Given the description of an element on the screen output the (x, y) to click on. 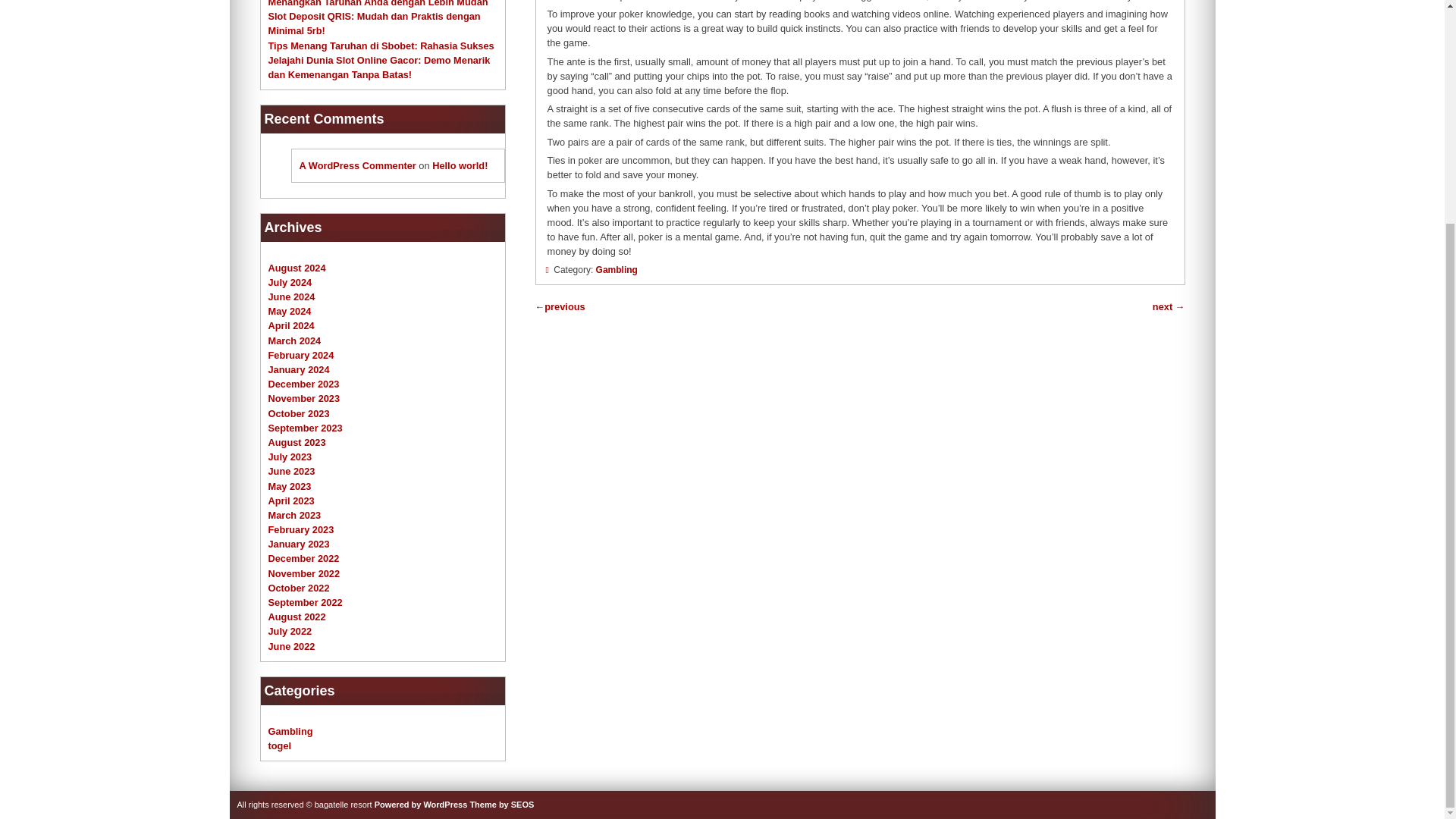
March 2023 (294, 514)
Gambling (616, 269)
June 2023 (291, 471)
Seos free wordpress themes (501, 804)
April 2024 (290, 325)
February 2023 (300, 529)
Slot Deposit QRIS: Mudah dan Praktis dengan Minimal 5rb! (373, 23)
Hello world! (459, 165)
August 2023 (296, 441)
May 2023 (289, 486)
